Given the description of an element on the screen output the (x, y) to click on. 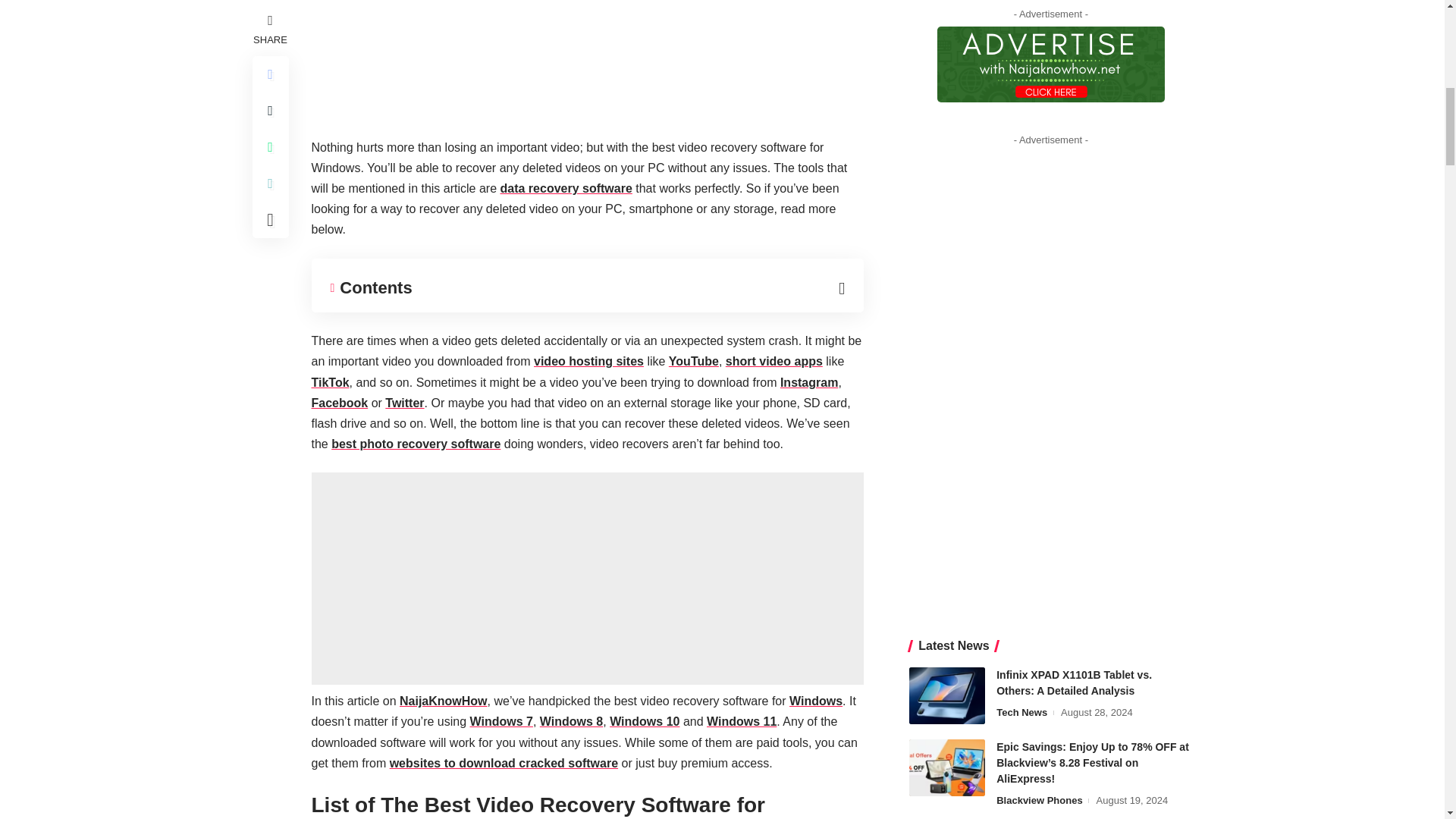
How Can Online Faxing Streamline Business Operations? (946, 452)
Infinix XPAD X1101B Tablet vs. Others: A Detailed Analysis (946, 210)
